Given the description of an element on the screen output the (x, y) to click on. 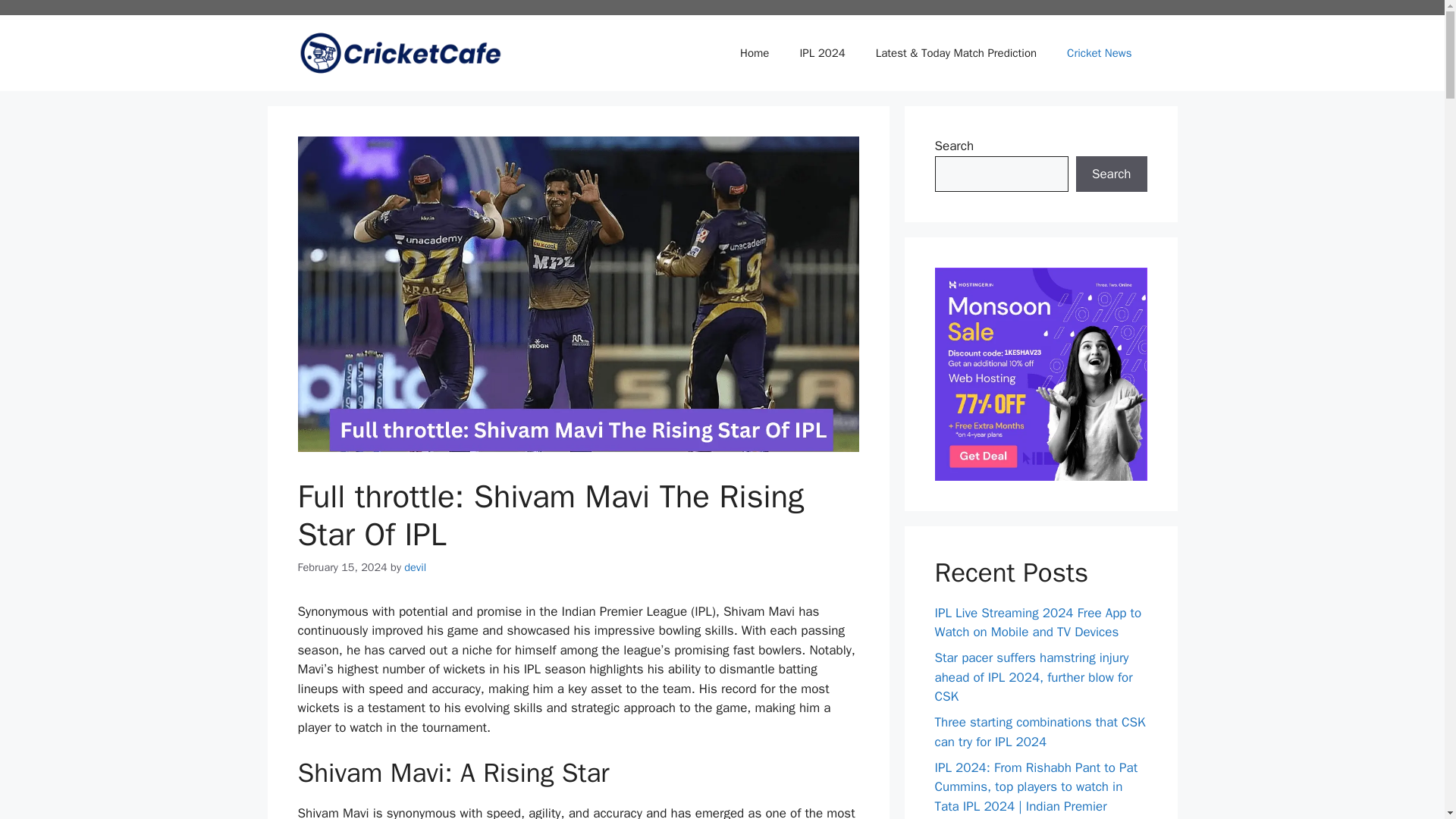
IPL 2024 (822, 53)
Home (754, 53)
Search (1111, 174)
devil (415, 567)
Three starting combinations that CSK can try for IPL 2024 (1039, 732)
View all posts by devil (415, 567)
Cricket News (1099, 53)
